Given the description of an element on the screen output the (x, y) to click on. 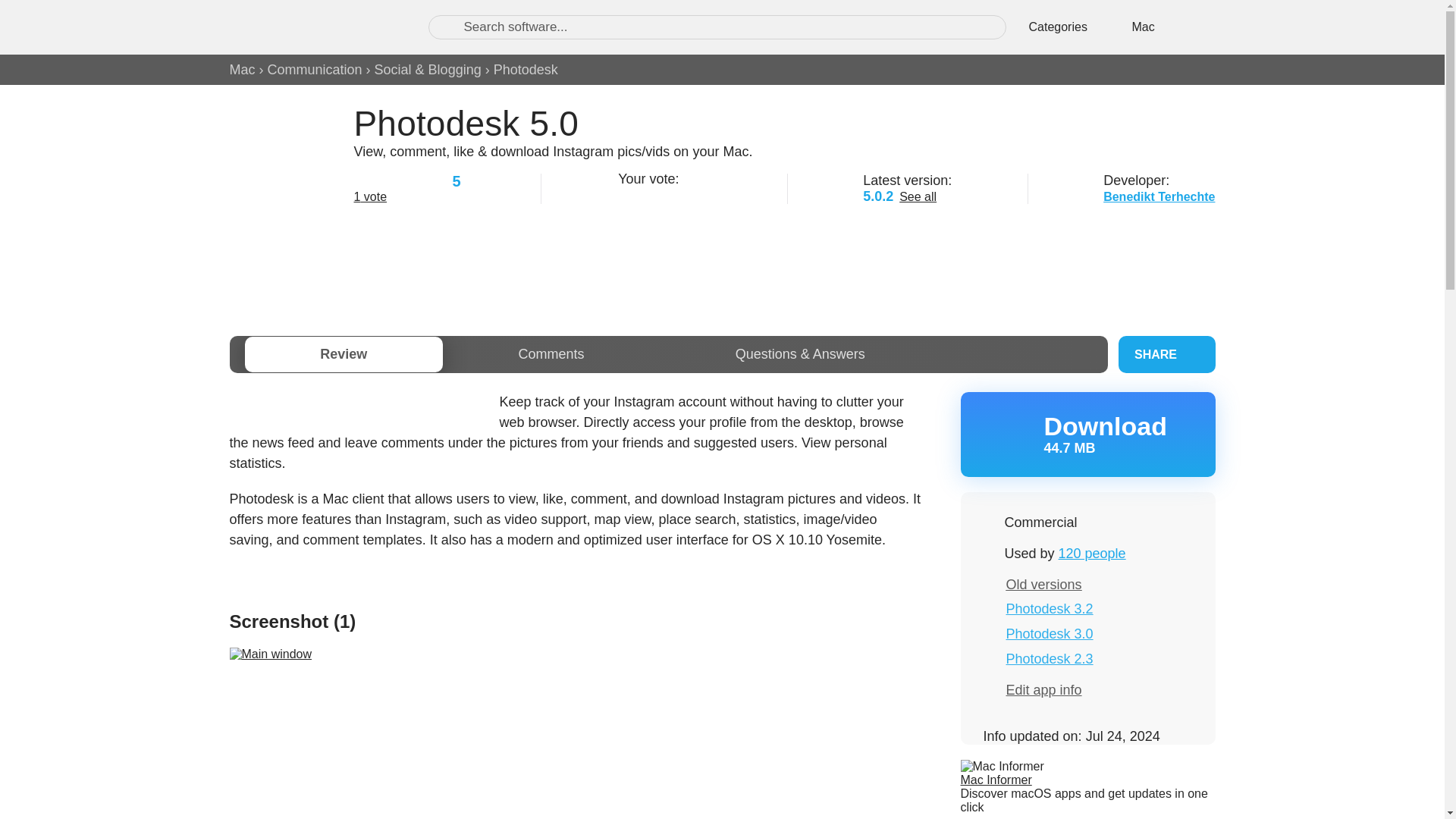
Download Photodesk (1086, 434)
Mac Informer (994, 779)
Photodesk (525, 69)
Photodesk 3.0 (1049, 633)
120 people (1091, 553)
1 (624, 193)
Review (343, 354)
Software downloads and reviews (312, 26)
Comments (550, 354)
2 (643, 193)
Search software... (717, 27)
Comments (550, 354)
See all (917, 195)
